Given the description of an element on the screen output the (x, y) to click on. 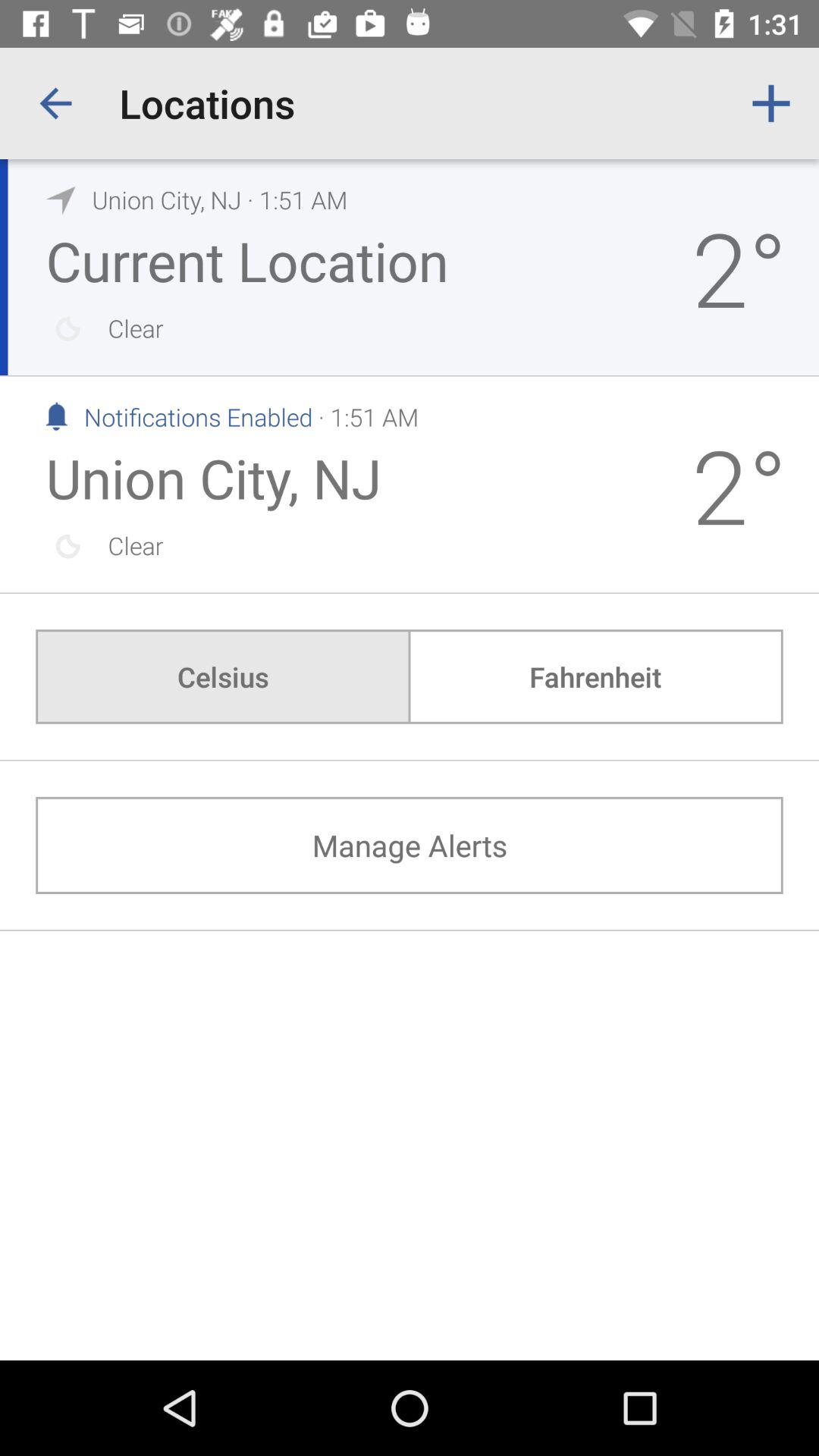
turn off the app to the right of locations (771, 103)
